Given the description of an element on the screen output the (x, y) to click on. 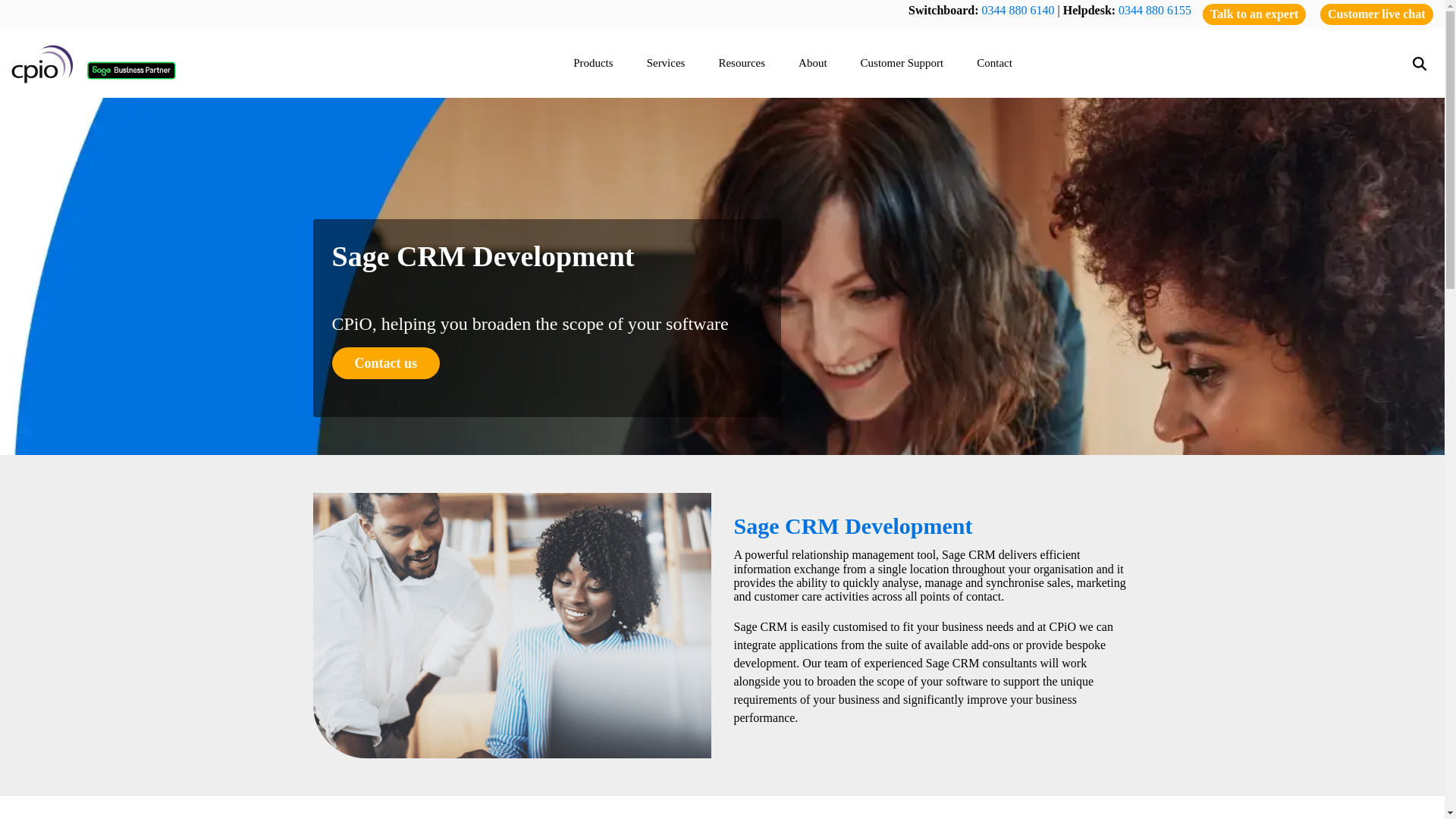
Talk to an expert (1254, 14)
Customer live chat (1376, 14)
0344 880 6140 (1017, 10)
cpio-sage-partner-logov6 (93, 63)
0344 880 6155 (1154, 10)
Products (598, 62)
